Given the description of an element on the screen output the (x, y) to click on. 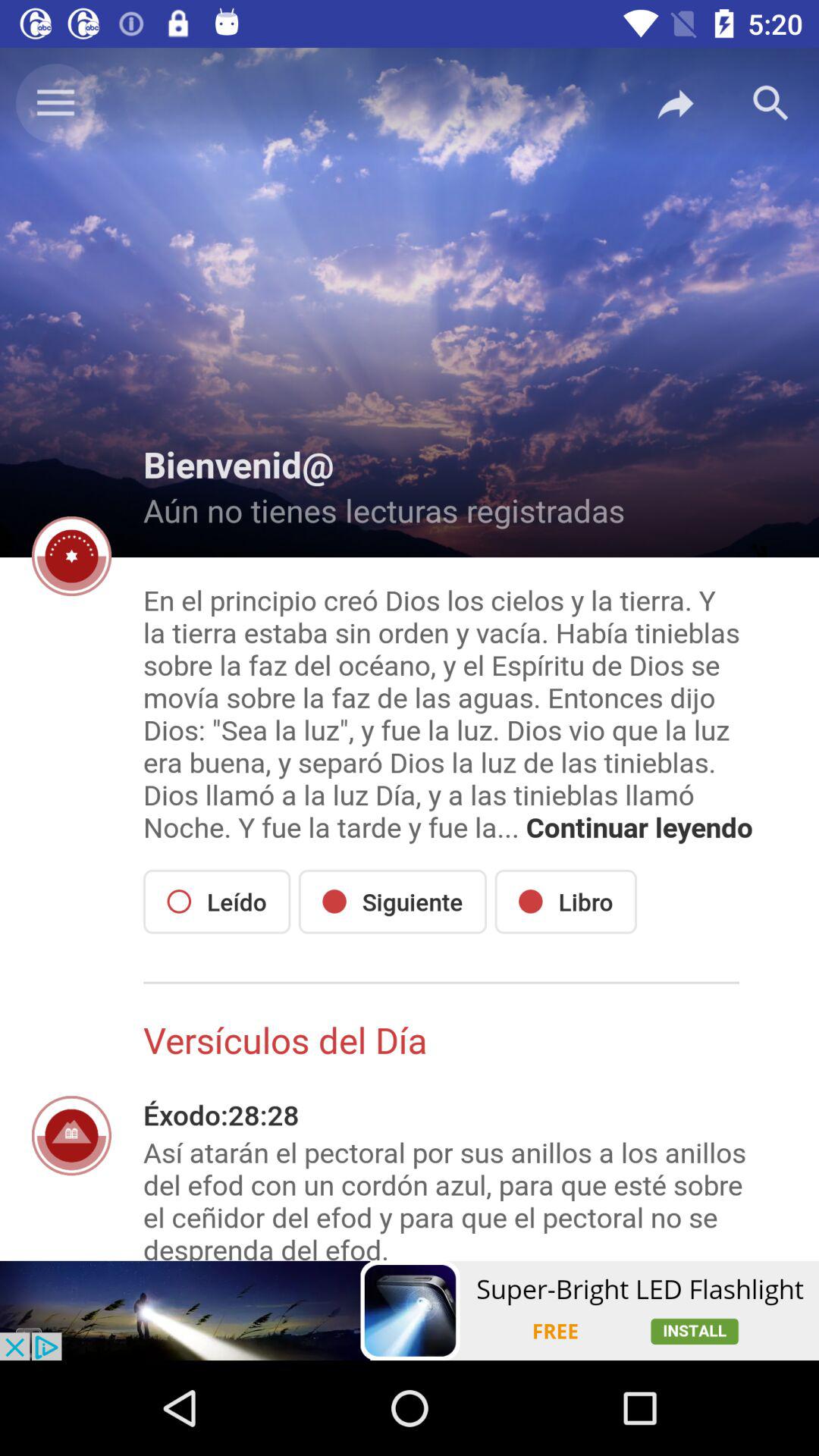
select the icon to the right of the siguiente item (565, 901)
